Given the description of an element on the screen output the (x, y) to click on. 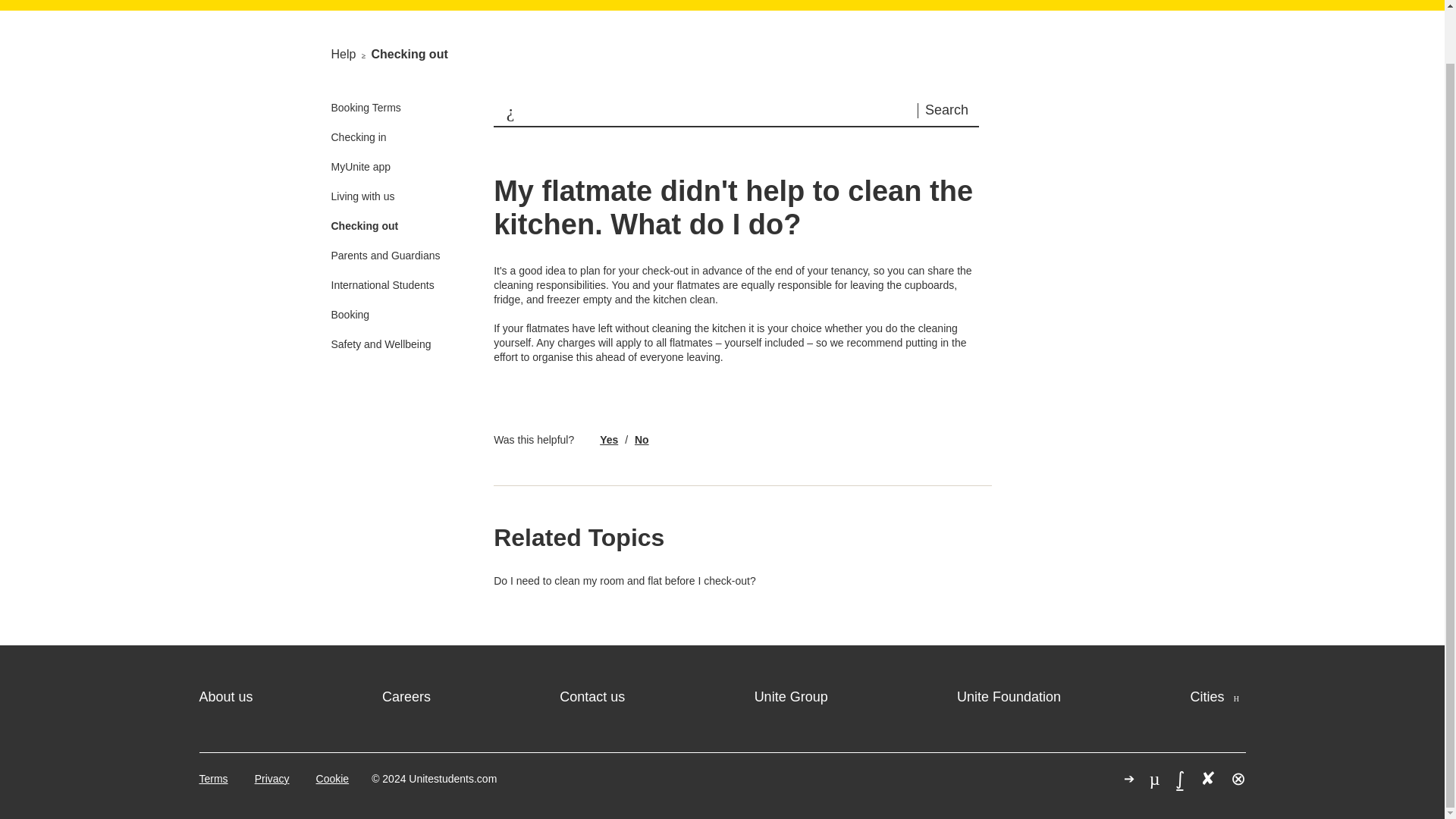
Sign In (1113, 0)
Booking Terms (365, 107)
Yes (608, 439)
Contact us (591, 696)
Unite Group (791, 696)
Help (901, 0)
Checking out (408, 53)
Parents and Guardians (384, 255)
About us (224, 696)
Book with friends (1003, 0)
